Given the description of an element on the screen output the (x, y) to click on. 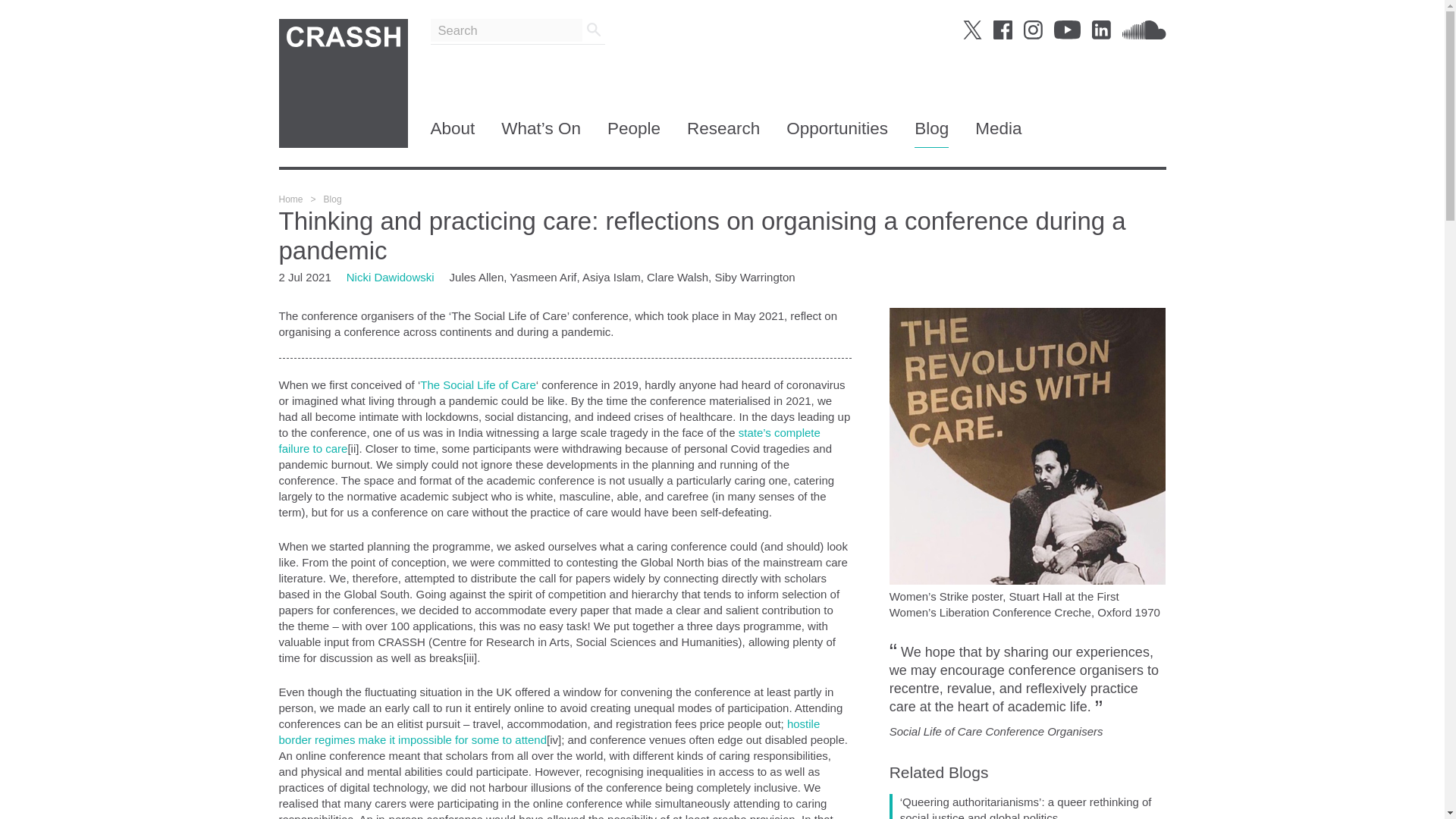
Blog (332, 199)
People (634, 132)
Media (998, 132)
Research (723, 132)
Opportunities (837, 132)
The Social Life of Care (477, 384)
Blog (931, 132)
Home (290, 199)
About (453, 132)
Nicki Dawidowski (389, 277)
hostile border regimes make it impossible for some to attend (550, 731)
